Given the description of an element on the screen output the (x, y) to click on. 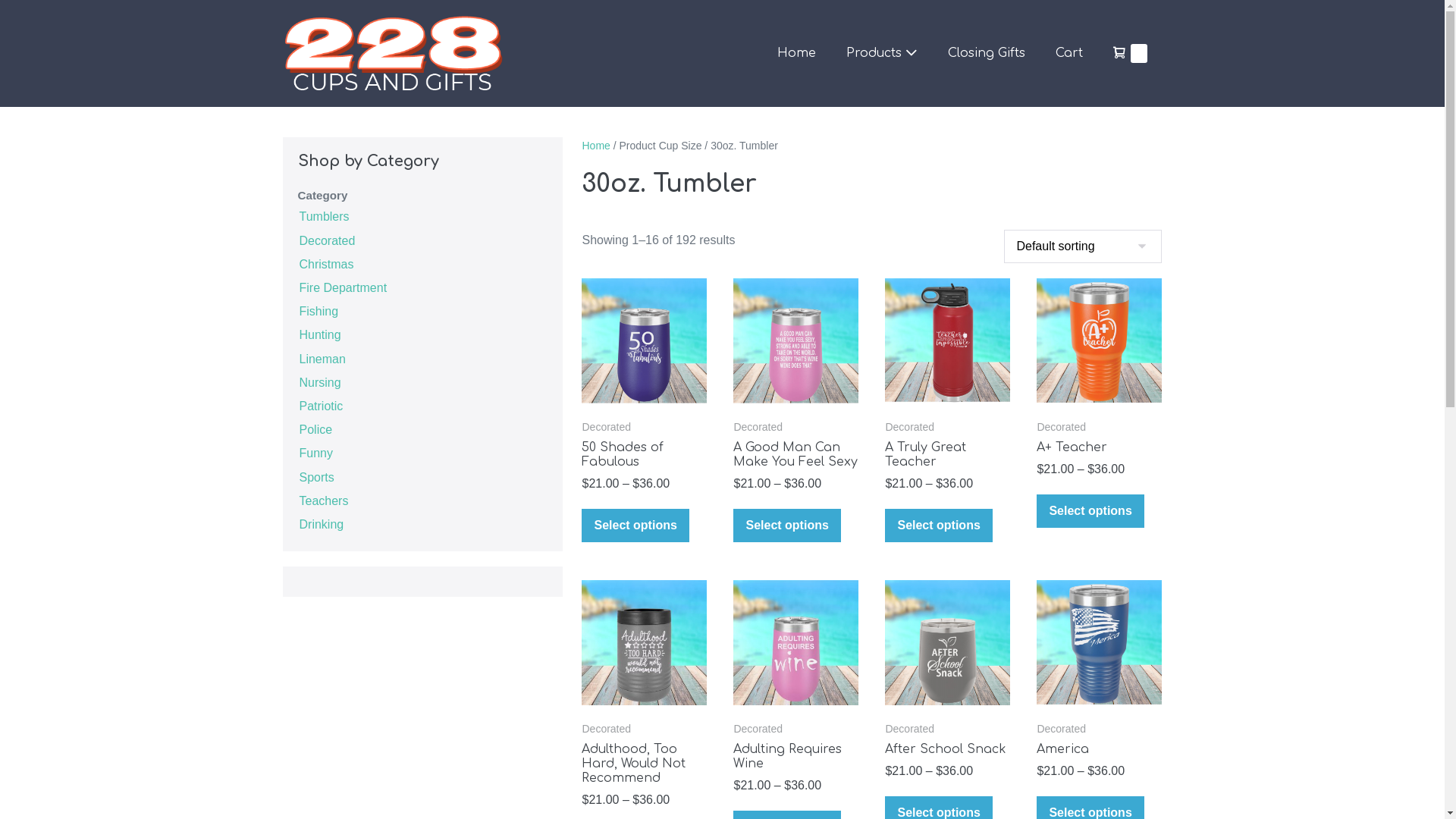
Shopping Cart
0
Items in Cart Element type: text (1130, 53)
Nursing Element type: text (319, 381)
A+ Teacher Element type: text (1098, 447)
Select options Element type: text (786, 525)
Fire Department Element type: text (342, 286)
America Element type: text (1098, 749)
After School Snack Element type: text (947, 749)
A Truly Great Teacher Element type: text (947, 454)
Drinking Element type: text (321, 523)
Funny Element type: text (315, 451)
Fishing Element type: text (318, 310)
Cart Element type: text (1069, 53)
Products Element type: text (881, 53)
Sports Element type: text (316, 475)
Decorated Element type: text (326, 238)
50 Shades of Fabulous Element type: text (643, 454)
Closing Gifts Element type: text (986, 53)
Home Element type: text (795, 53)
Patriotic Element type: text (320, 404)
Select options Element type: text (1089, 510)
Select options Element type: text (937, 525)
Hunting Element type: text (319, 333)
Teachers Element type: text (323, 499)
Police Element type: text (315, 428)
Tumblers Element type: text (323, 215)
A Good Man Can Make You Feel Sexy Element type: text (795, 454)
Select options Element type: text (634, 525)
Adulting Requires Wine Element type: text (795, 756)
Adulthood, Too Hard, Would Not Recommend Element type: text (643, 764)
Lineman Element type: text (321, 357)
Home Element type: text (595, 145)
228 Cups and Gifts Element type: hover (392, 53)
Christmas Element type: text (325, 263)
